Given the description of an element on the screen output the (x, y) to click on. 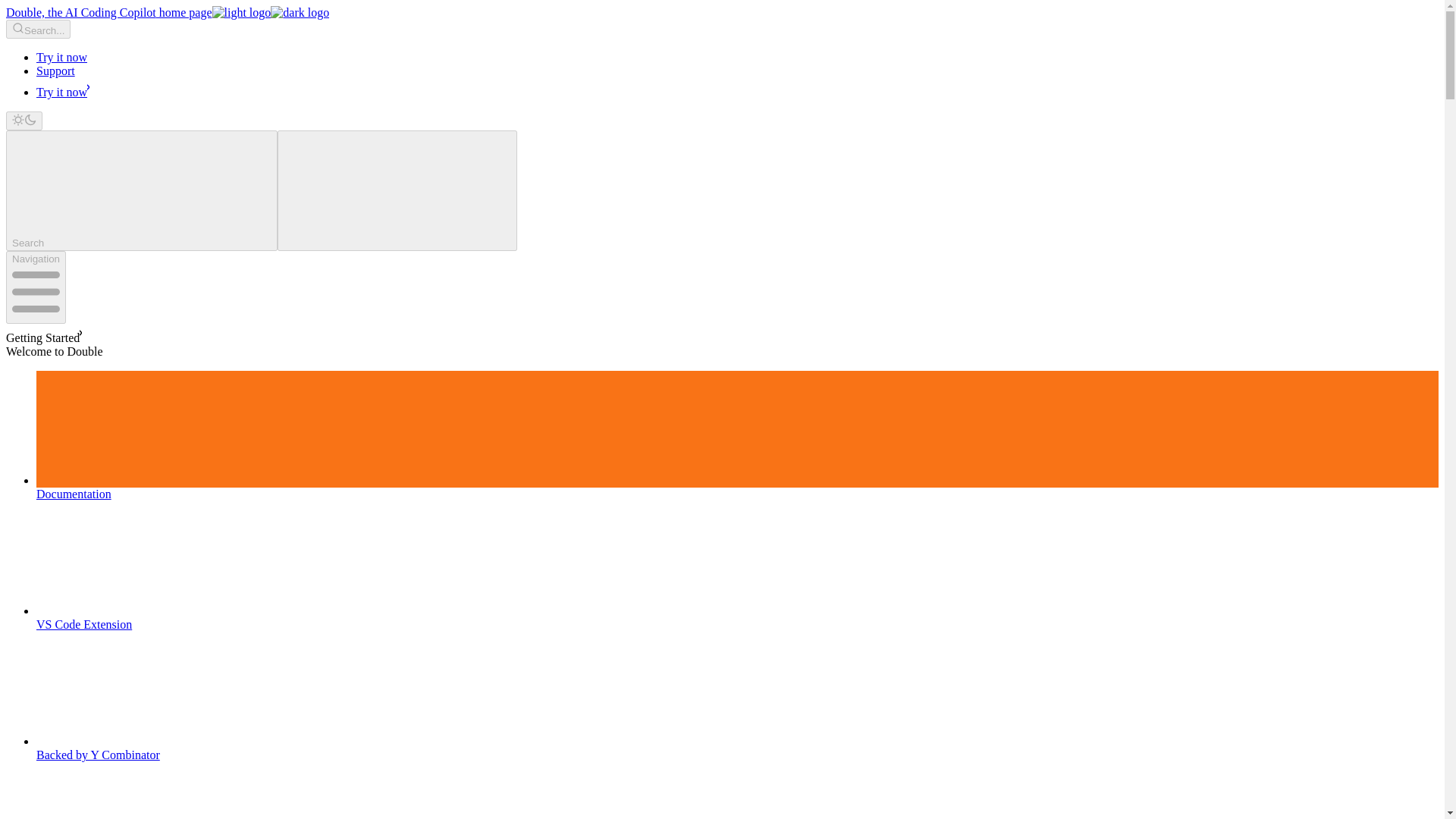
Double, the AI Coding Copilot home page (167, 11)
Support (55, 70)
Try it now (61, 56)
Search... (37, 28)
Search (141, 190)
